Given the description of an element on the screen output the (x, y) to click on. 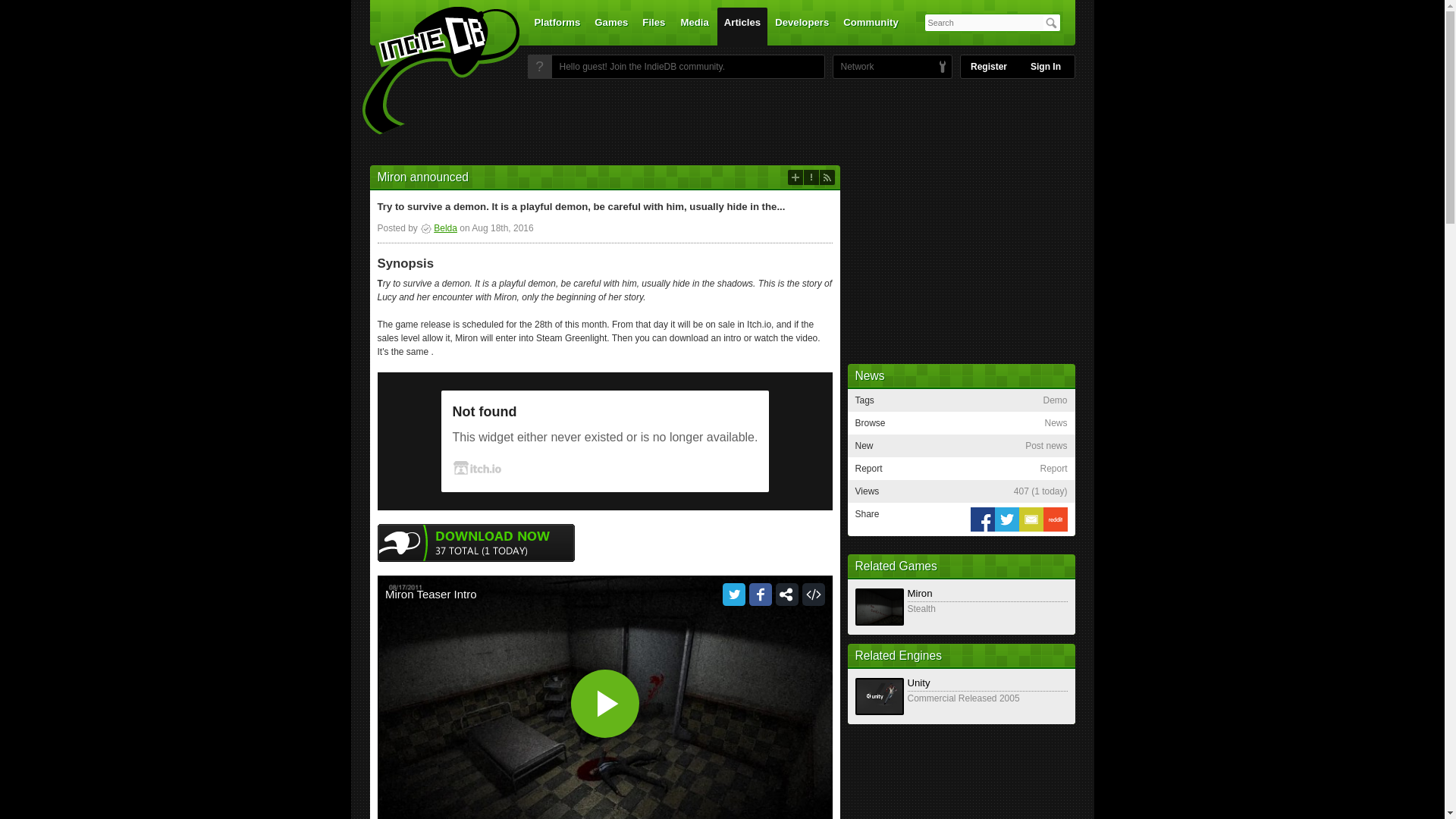
Home (430, 70)
Search IndieDB (1050, 22)
RSS (826, 177)
Articles (742, 26)
Post news (794, 177)
Files (652, 26)
DBolical (852, 66)
Games (611, 26)
Search (1050, 22)
Join IndieDB (539, 66)
Platforms (557, 26)
Developers (801, 26)
Community (870, 26)
Media (694, 26)
Download Miron Intro - Indie DB (476, 542)
